Given the description of an element on the screen output the (x, y) to click on. 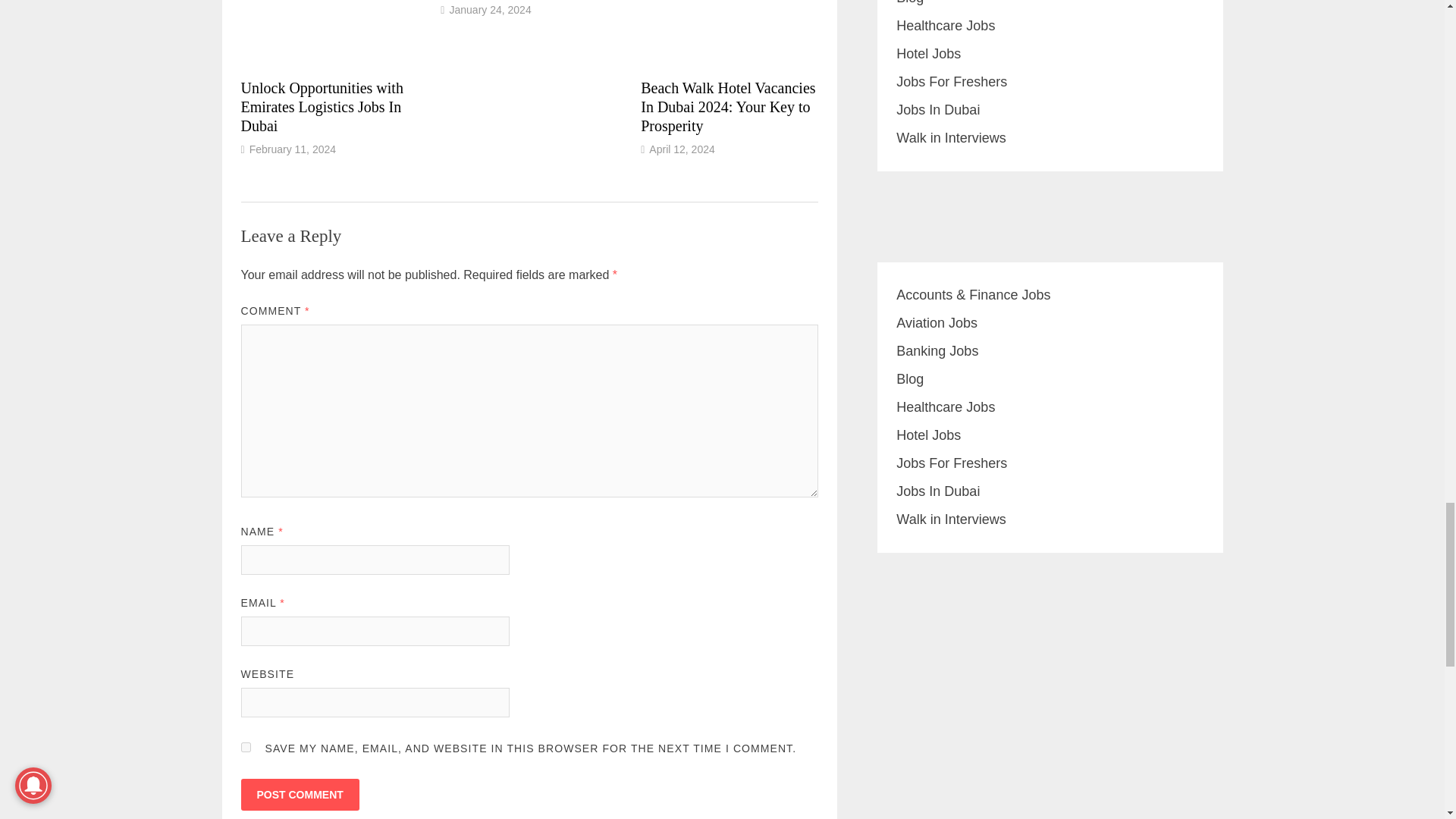
yes (245, 747)
Unlock Opportunities with Emirates Logistics Jobs In Dubai (322, 106)
Post Comment (300, 794)
